Given the description of an element on the screen output the (x, y) to click on. 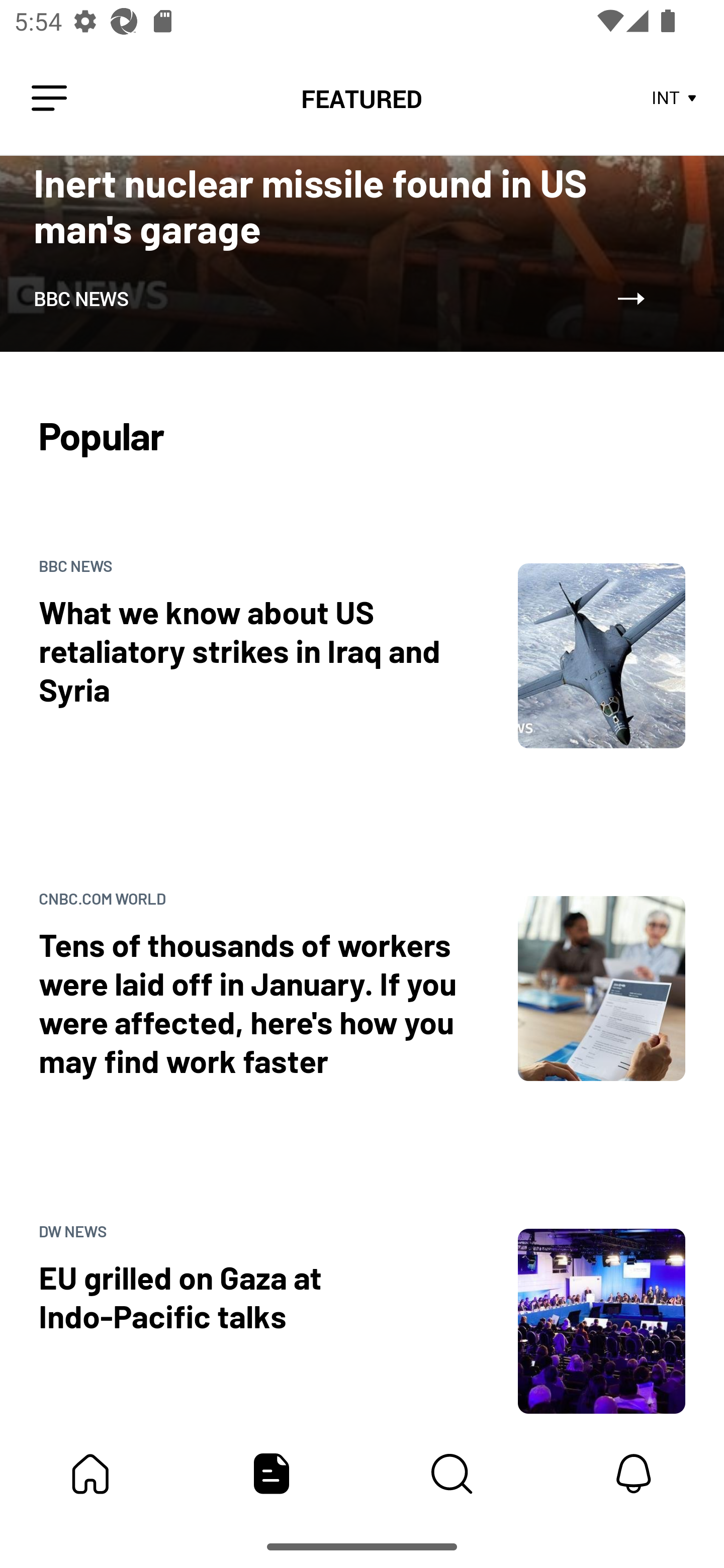
INT Store Area (674, 98)
Leading Icon (49, 98)
My Bundle (90, 1473)
Content Store (452, 1473)
Notifications (633, 1473)
